Given the description of an element on the screen output the (x, y) to click on. 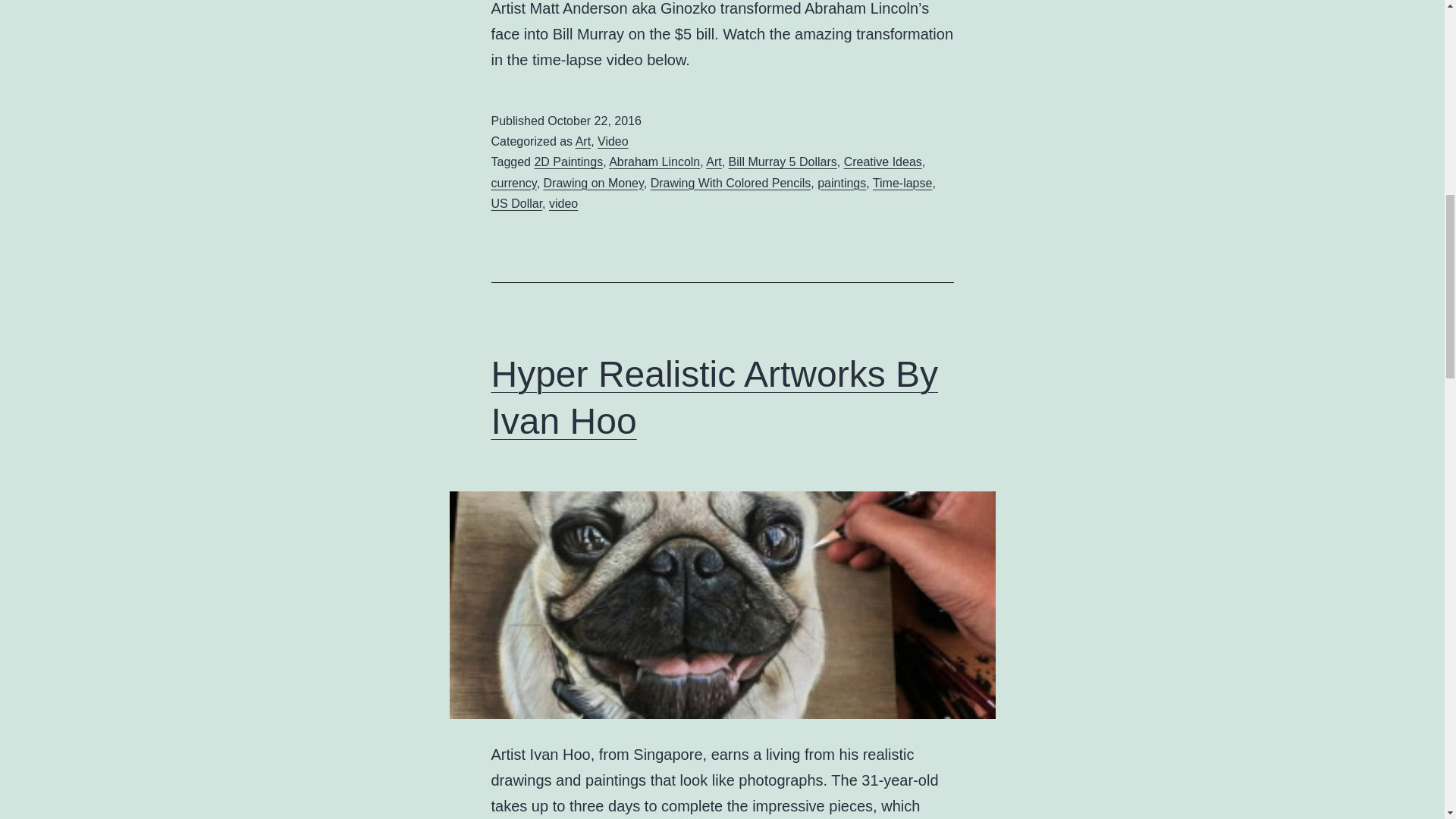
Drawing on Money (593, 182)
Video (612, 141)
Drawing With Colored Pencils (730, 182)
Creative Ideas (882, 161)
Abraham Lincoln (654, 161)
video (563, 203)
currency (514, 182)
Art (713, 161)
Art (583, 141)
Hyper Realistic Artworks By Ivan Hoo (714, 397)
US Dollar (517, 203)
2D Paintings (568, 161)
Bill Murray 5 Dollars (783, 161)
Time-lapse (902, 182)
paintings (841, 182)
